Given the description of an element on the screen output the (x, y) to click on. 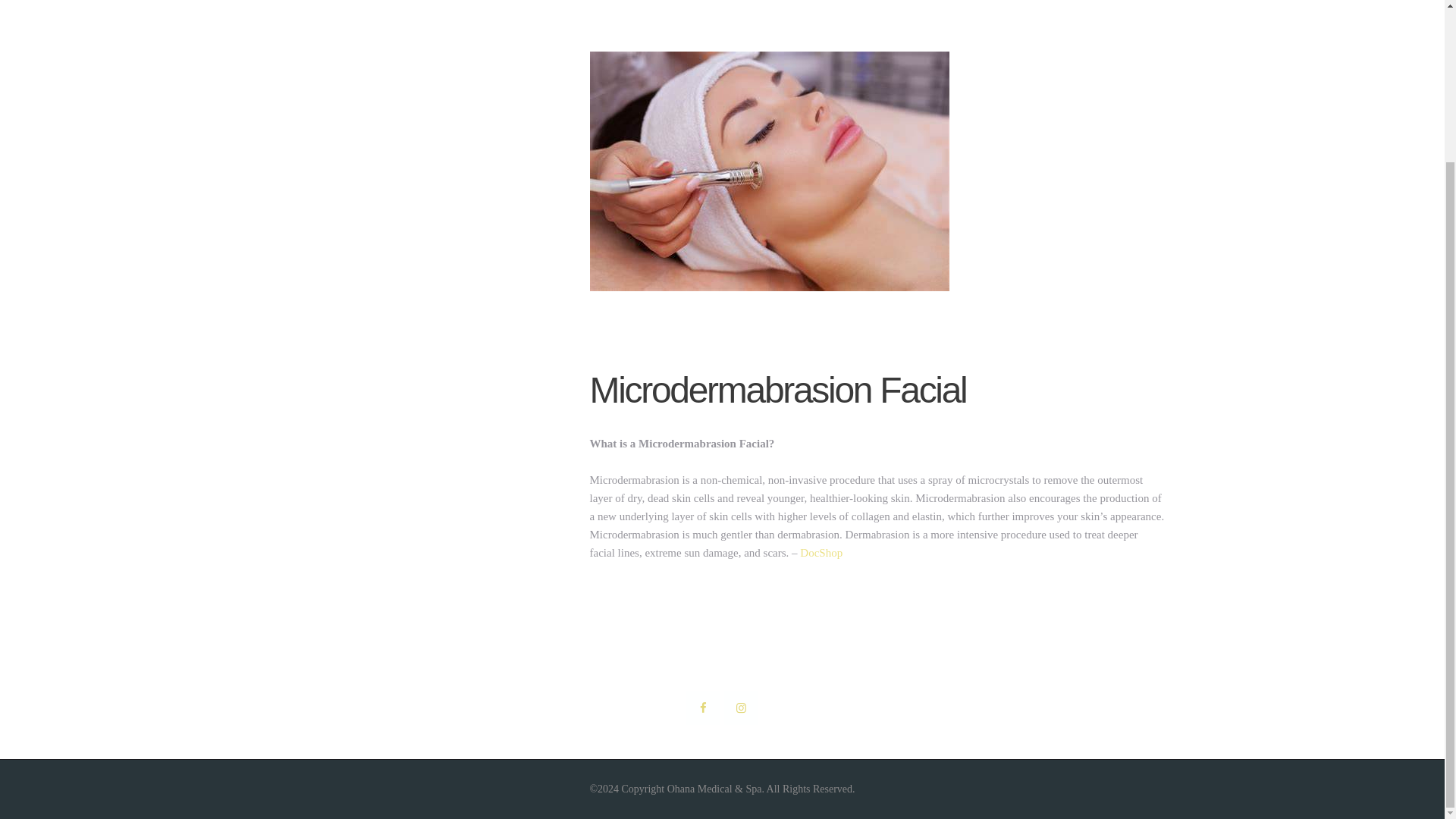
DocShop (821, 552)
